Given the description of an element on the screen output the (x, y) to click on. 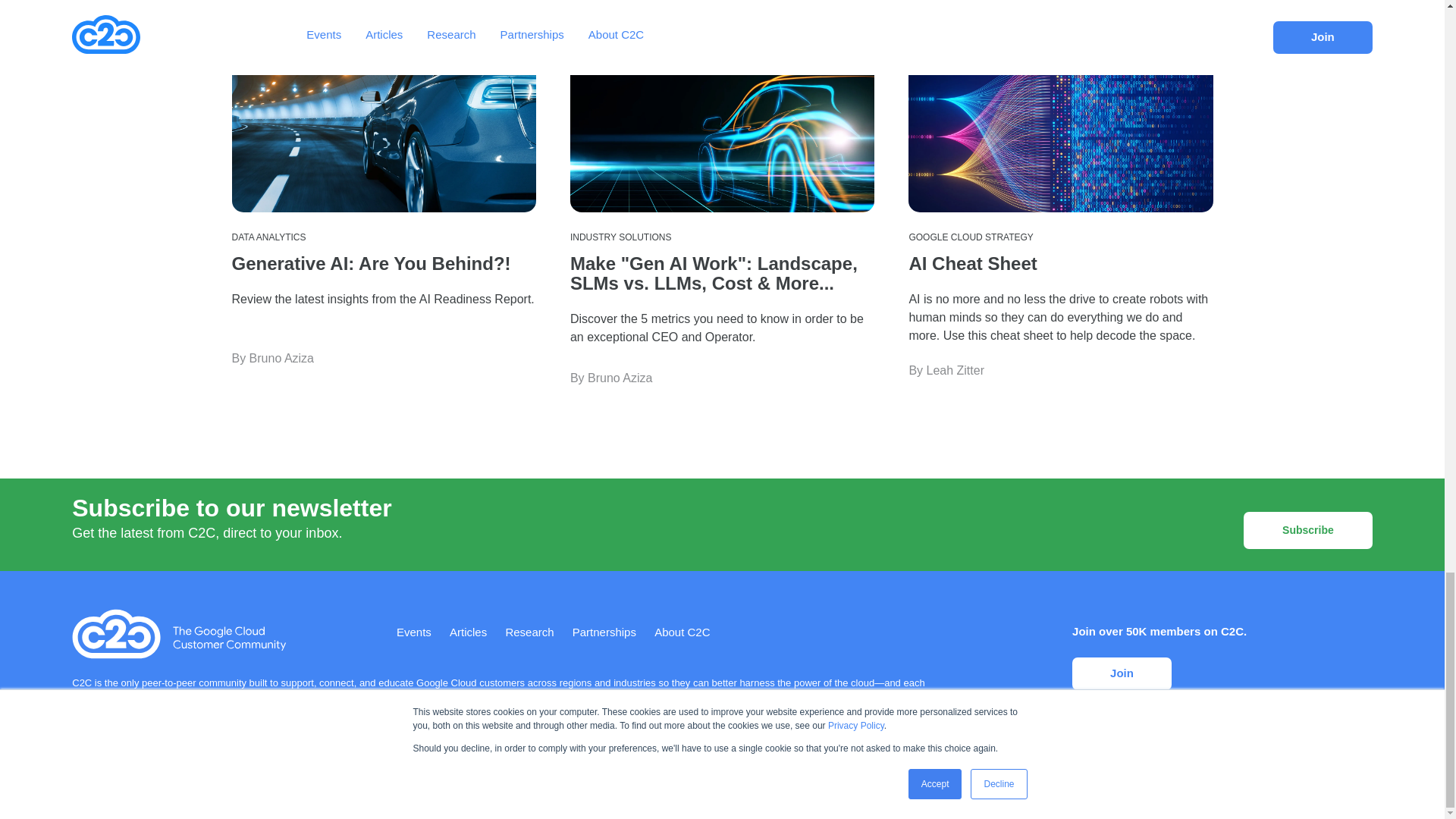
GOOGLE CLOUD STRATEGY (970, 237)
Partnerships (604, 631)
c2c-logo-white-tagline (178, 634)
About C2C (681, 631)
Generative AI: Are You Behind?! (371, 263)
Events (413, 631)
Join (1121, 673)
Articles (467, 631)
AI Cheat Sheet (972, 263)
INDUSTRY SOLUTIONS (620, 237)
